Given the description of an element on the screen output the (x, y) to click on. 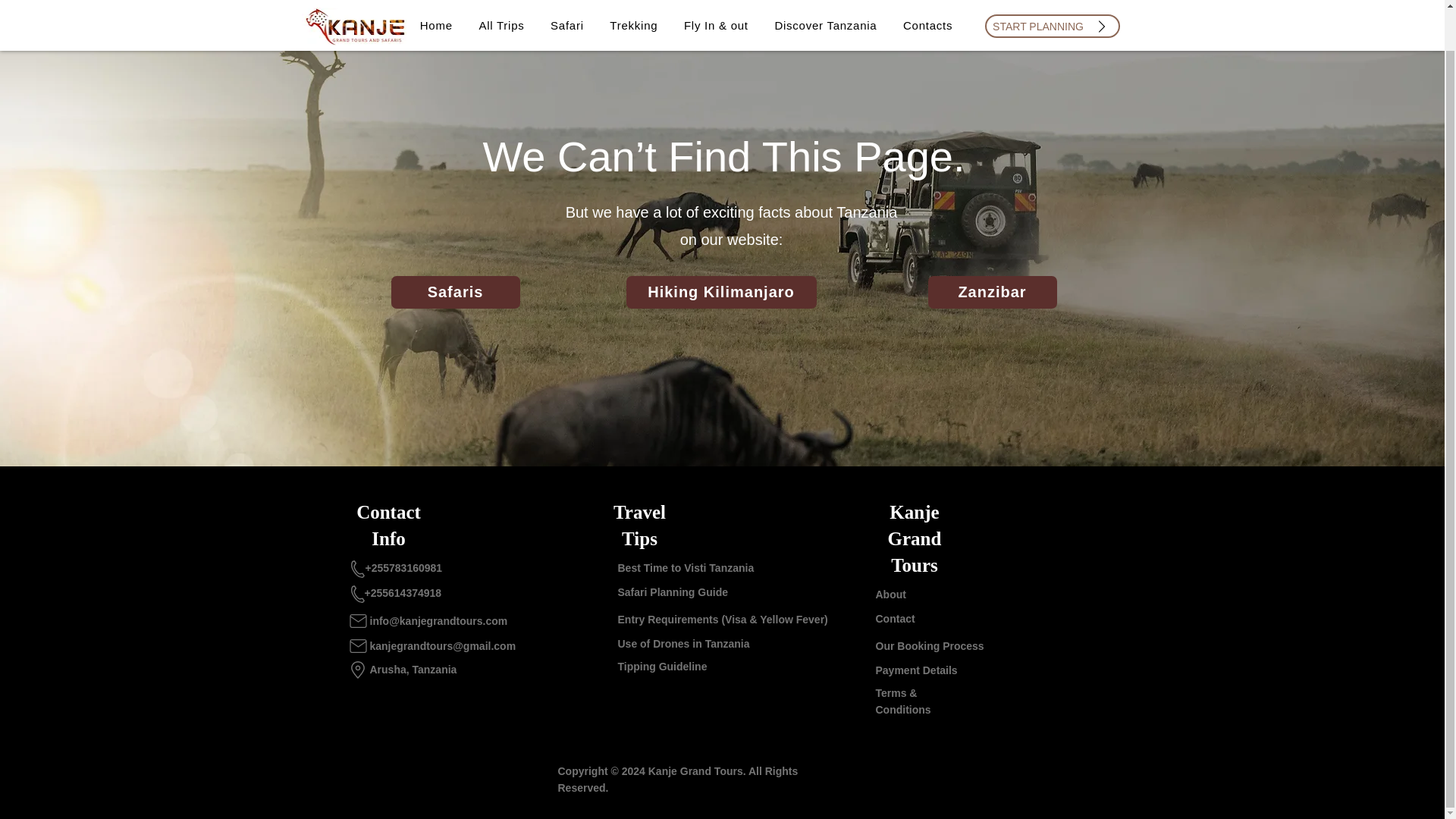
Safaris (455, 292)
Zanzibar (992, 292)
Hiking Kilimanjaro (721, 292)
Tipping Guideline (661, 666)
